Given the description of an element on the screen output the (x, y) to click on. 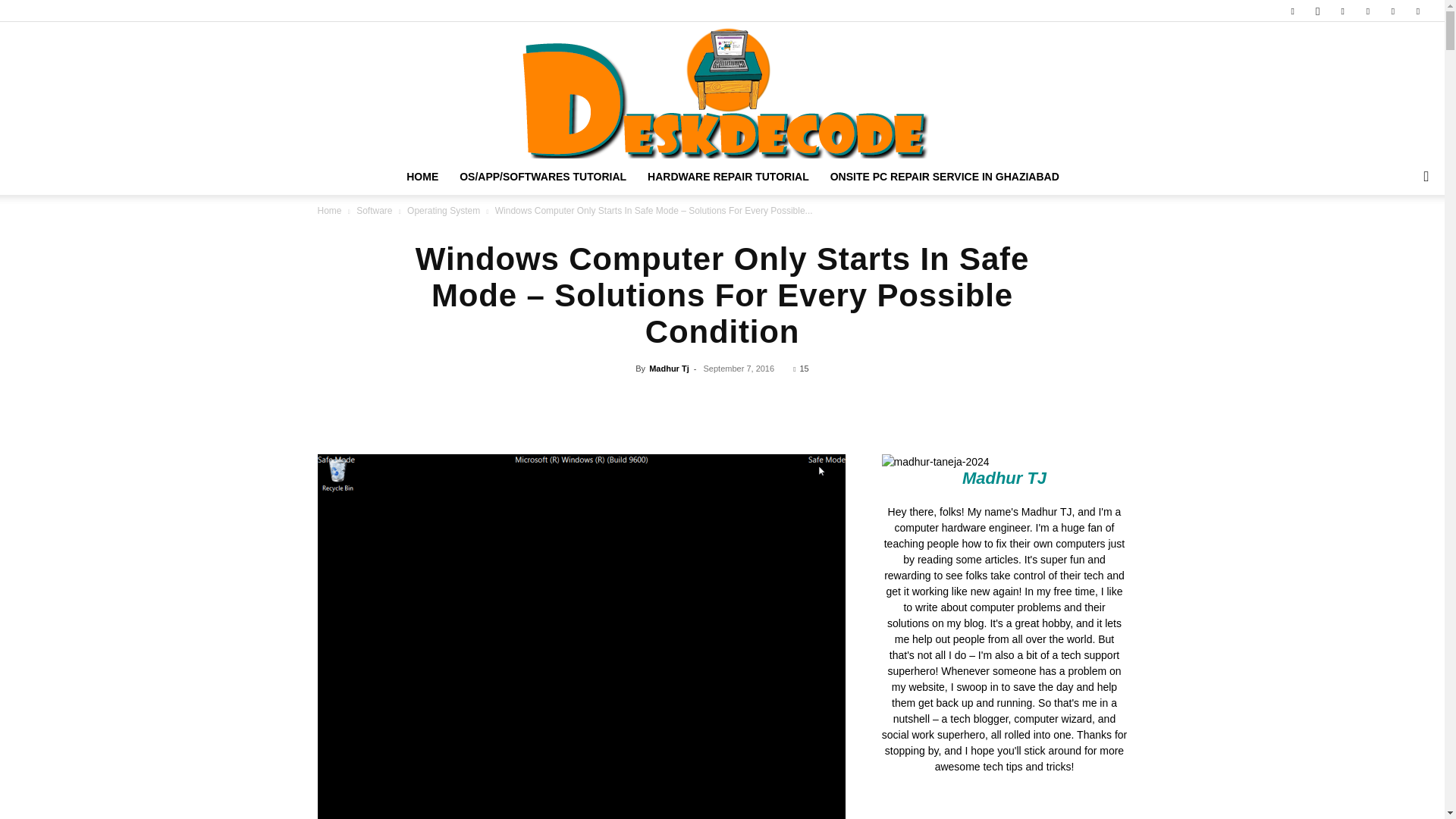
Pinterest (1343, 10)
Facebook (1292, 10)
Twitter (1393, 10)
Tumblr (1367, 10)
Instagram (1317, 10)
Youtube (1417, 10)
